Given the description of an element on the screen output the (x, y) to click on. 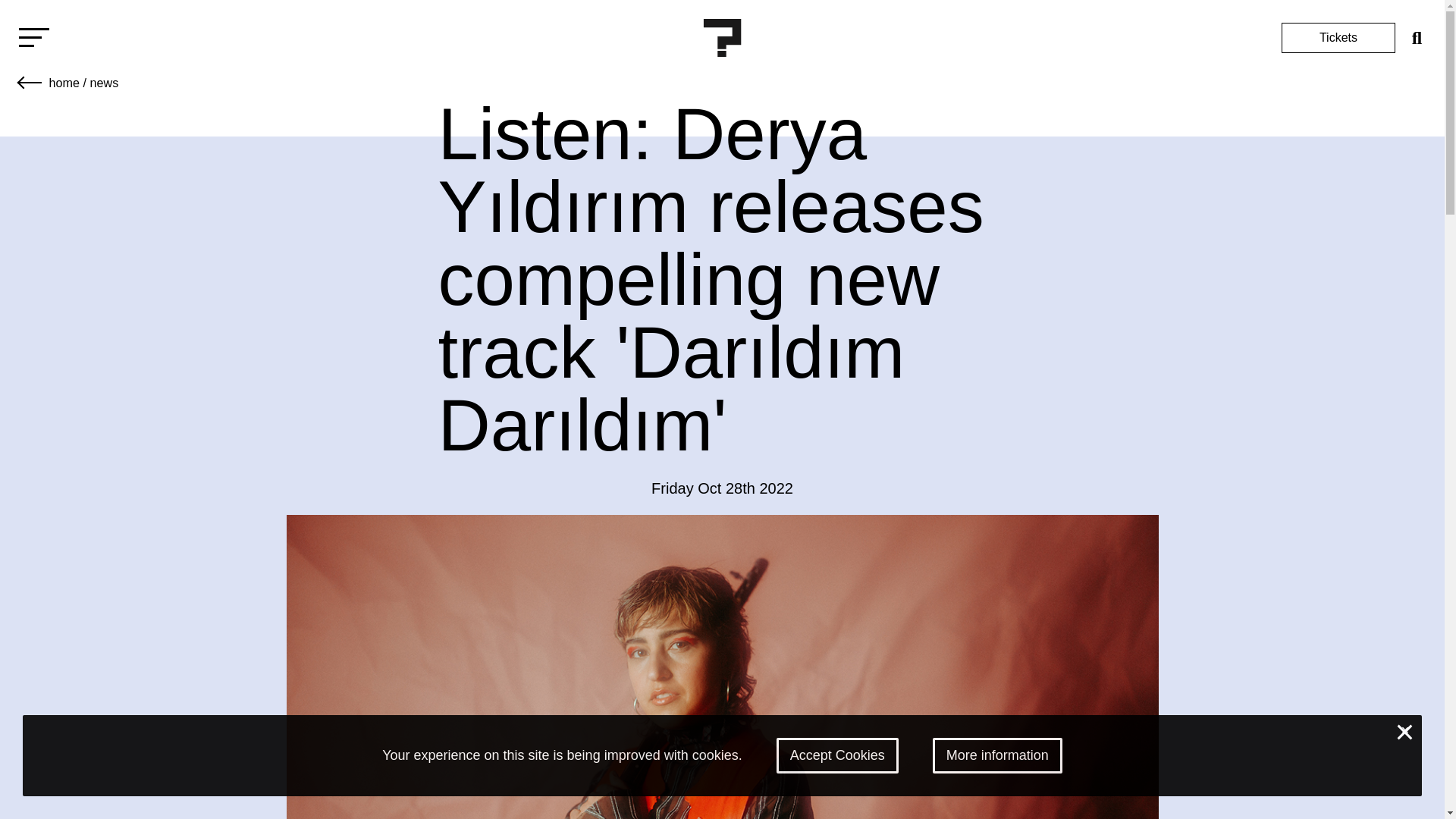
home (64, 82)
news (102, 82)
Tickets (1337, 37)
